Given the description of an element on the screen output the (x, y) to click on. 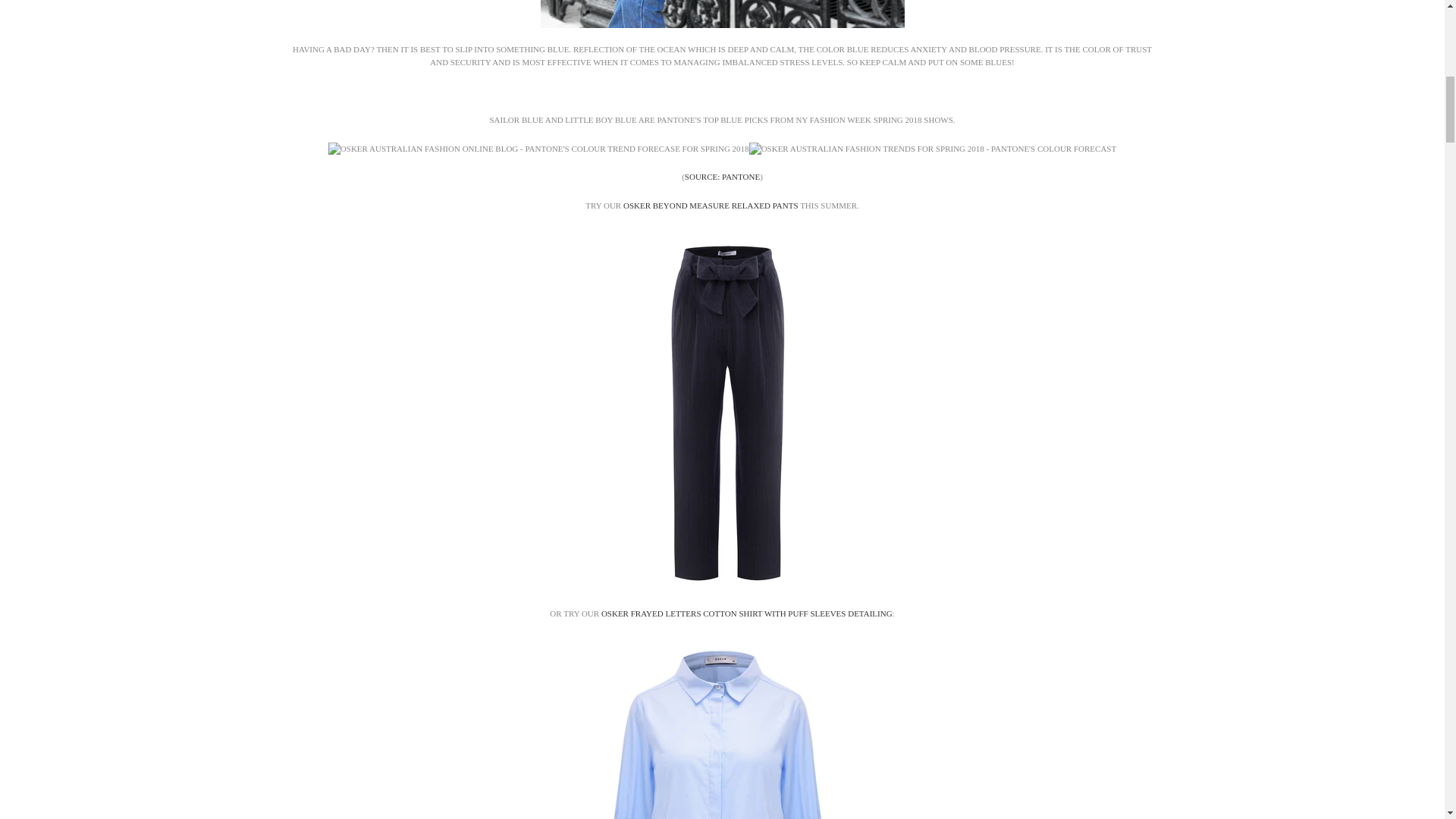
OSKER BEYOND MEASURE RELAXED PANTS (710, 204)
SOURCE: PANTONE (722, 175)
